Given the description of an element on the screen output the (x, y) to click on. 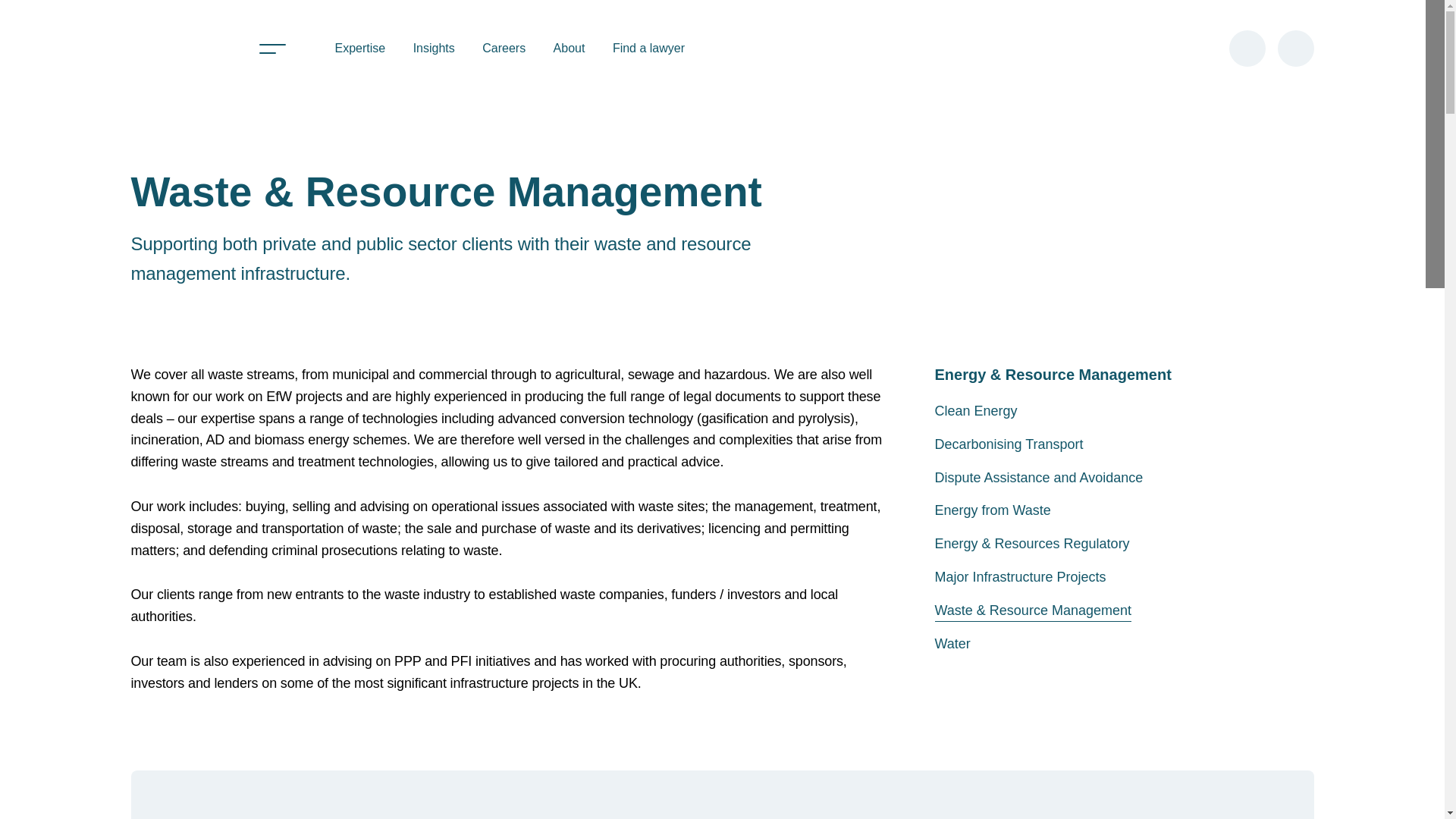
Expertise (359, 47)
